Given the description of an element on the screen output the (x, y) to click on. 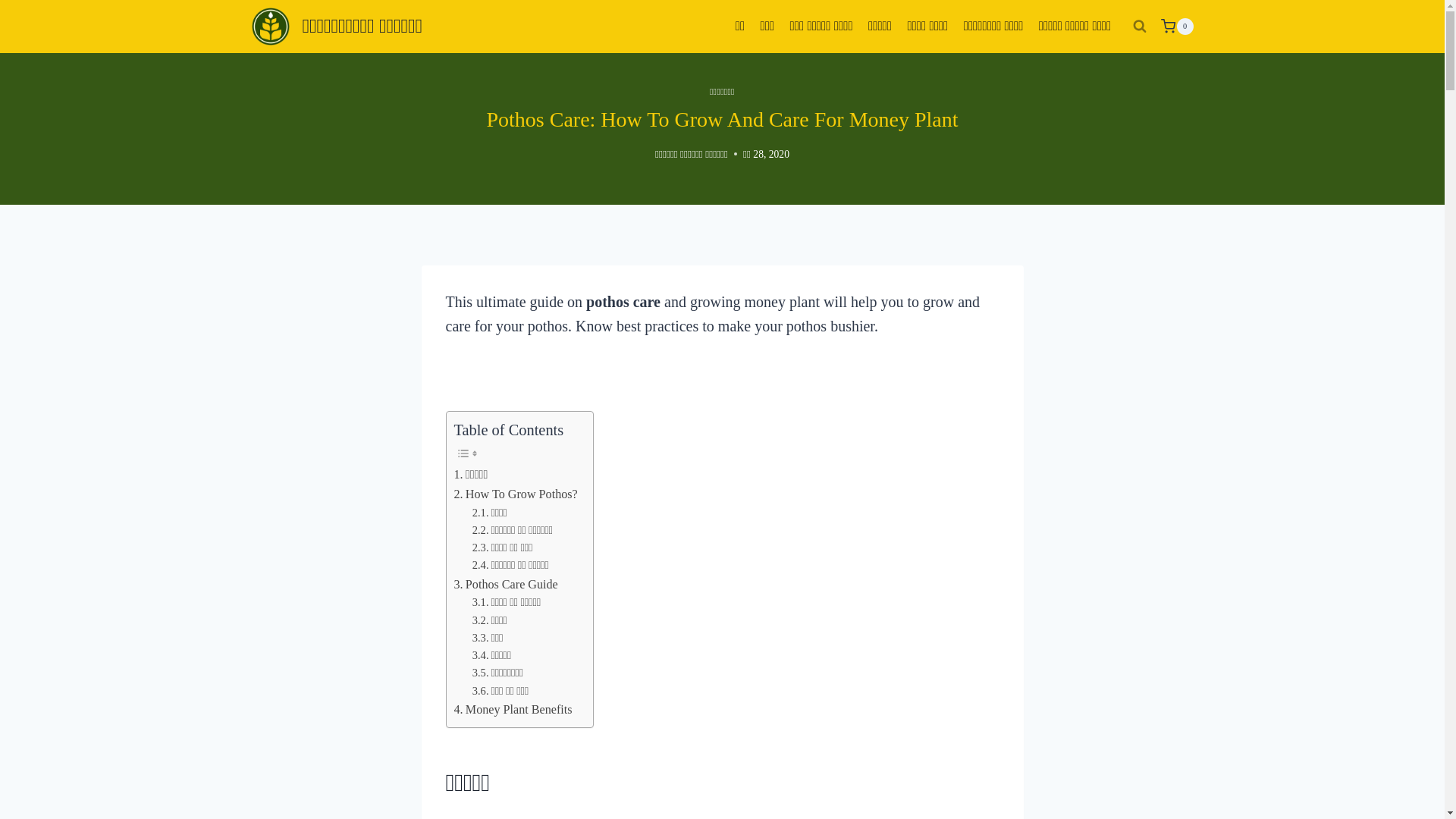
Pothos Care Guide (504, 584)
Araceae (802, 817)
How To Grow Pothos? (514, 494)
Money Plant Benefits (512, 709)
Pothos Care Guide (504, 584)
Epipremnum aureum (512, 817)
0 (1176, 26)
How To Grow Pothos? (514, 494)
